Given the description of an element on the screen output the (x, y) to click on. 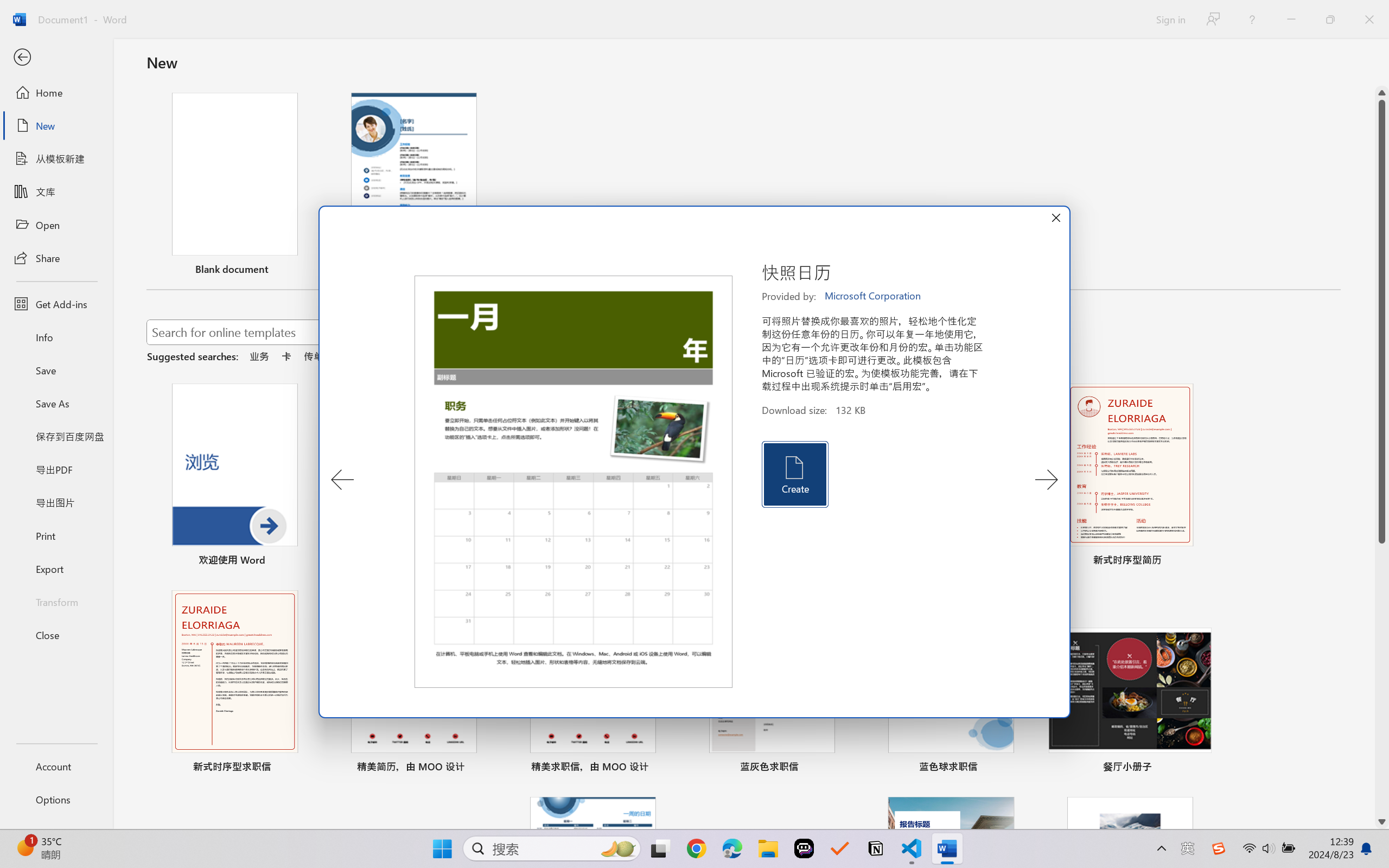
Microsoft Corporation (873, 296)
Back (56, 57)
Transform (56, 601)
Page down (1382, 679)
